Given the description of an element on the screen output the (x, y) to click on. 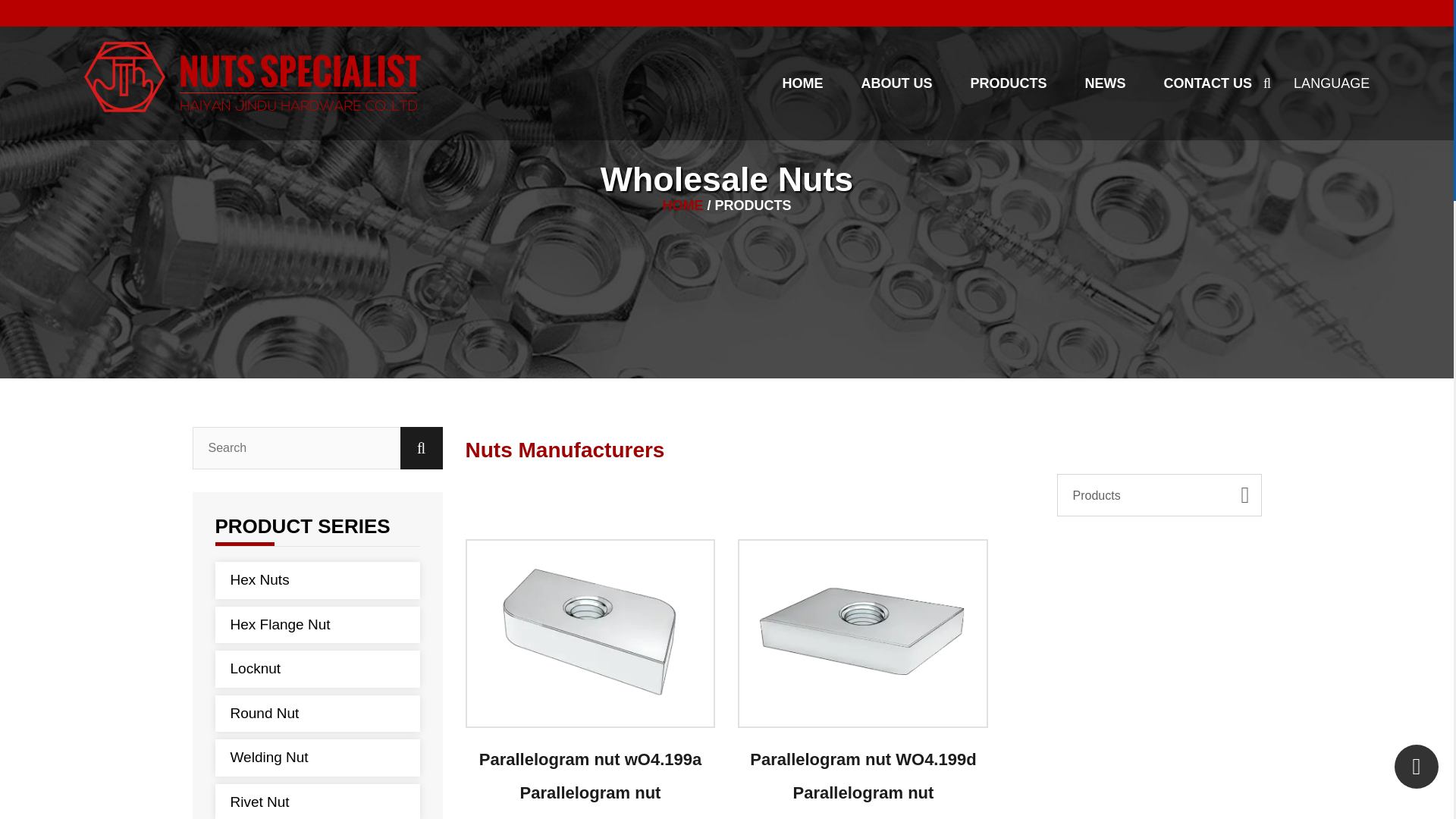
Parallelogram nut WO4.199d Parallelogram nut (863, 632)
Parallelogram nut wO4.199a Parallelogram nut (590, 632)
PRODUCTS (1007, 83)
HOME (801, 83)
ABOUT US (895, 83)
